Given the description of an element on the screen output the (x, y) to click on. 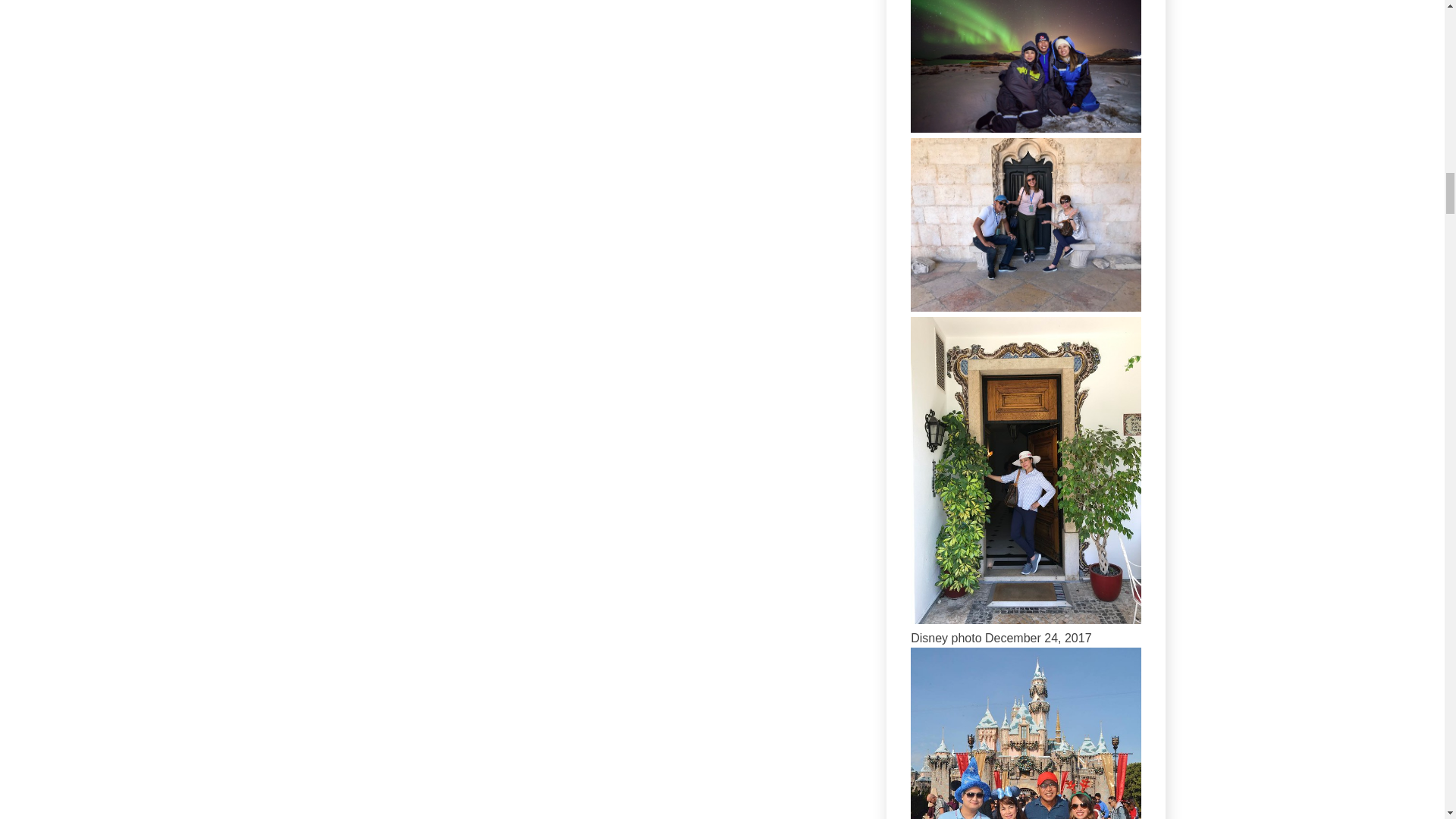
Northern Lights March 2018 (1026, 128)
cascais Portugal June 20 2018 140 (1026, 619)
portugal june 17 2018 171 Jeronimo's Monastery (1026, 307)
